Given the description of an element on the screen output the (x, y) to click on. 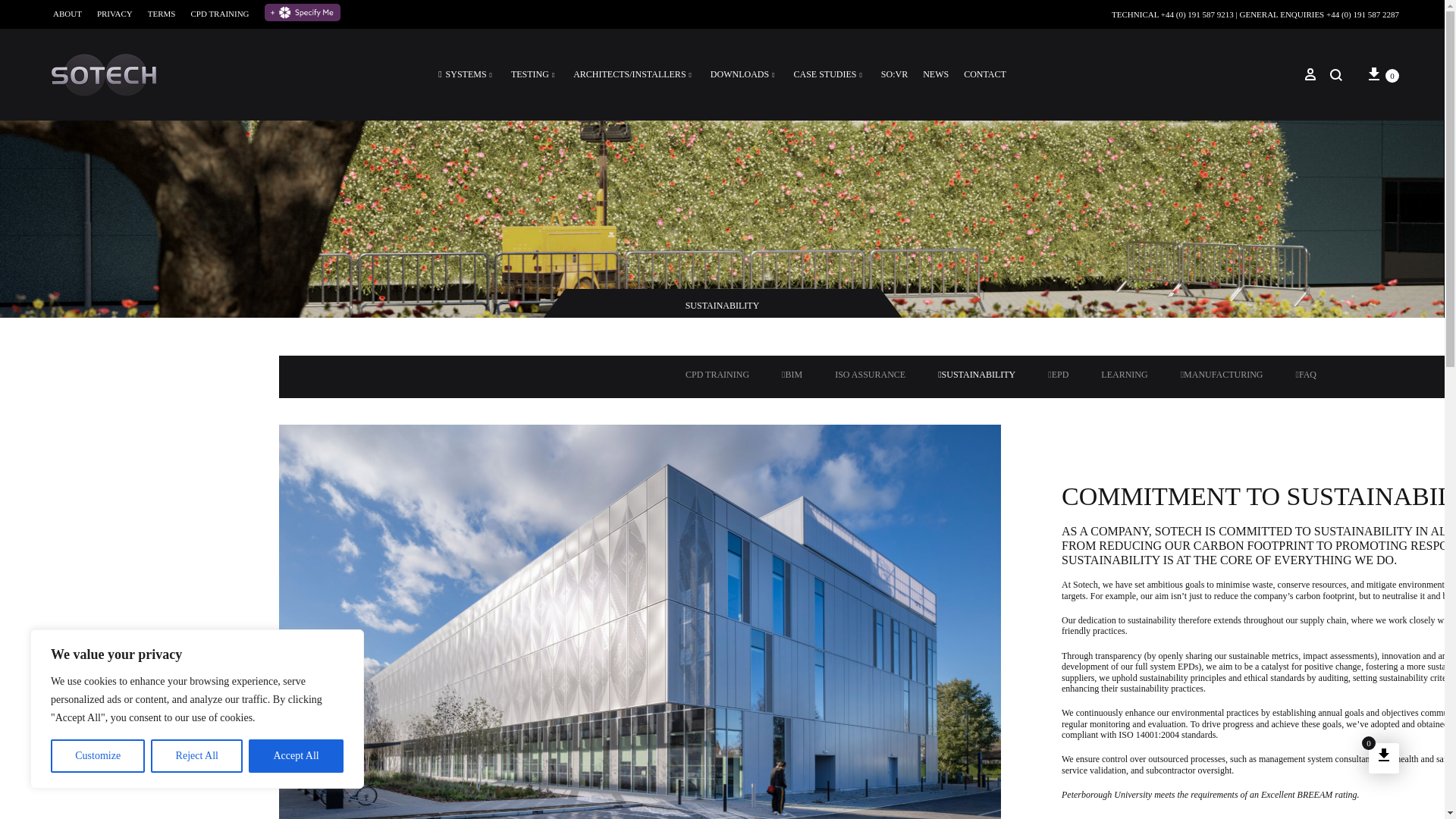
PRIVACY (114, 13)
Reject All (197, 756)
TERMS (162, 13)
CPD TRAINING (219, 13)
Sotech Optima (58, 112)
ABOUT (66, 13)
SYSTEMS (467, 73)
Accept All (295, 756)
Customize (97, 756)
